Given the description of an element on the screen output the (x, y) to click on. 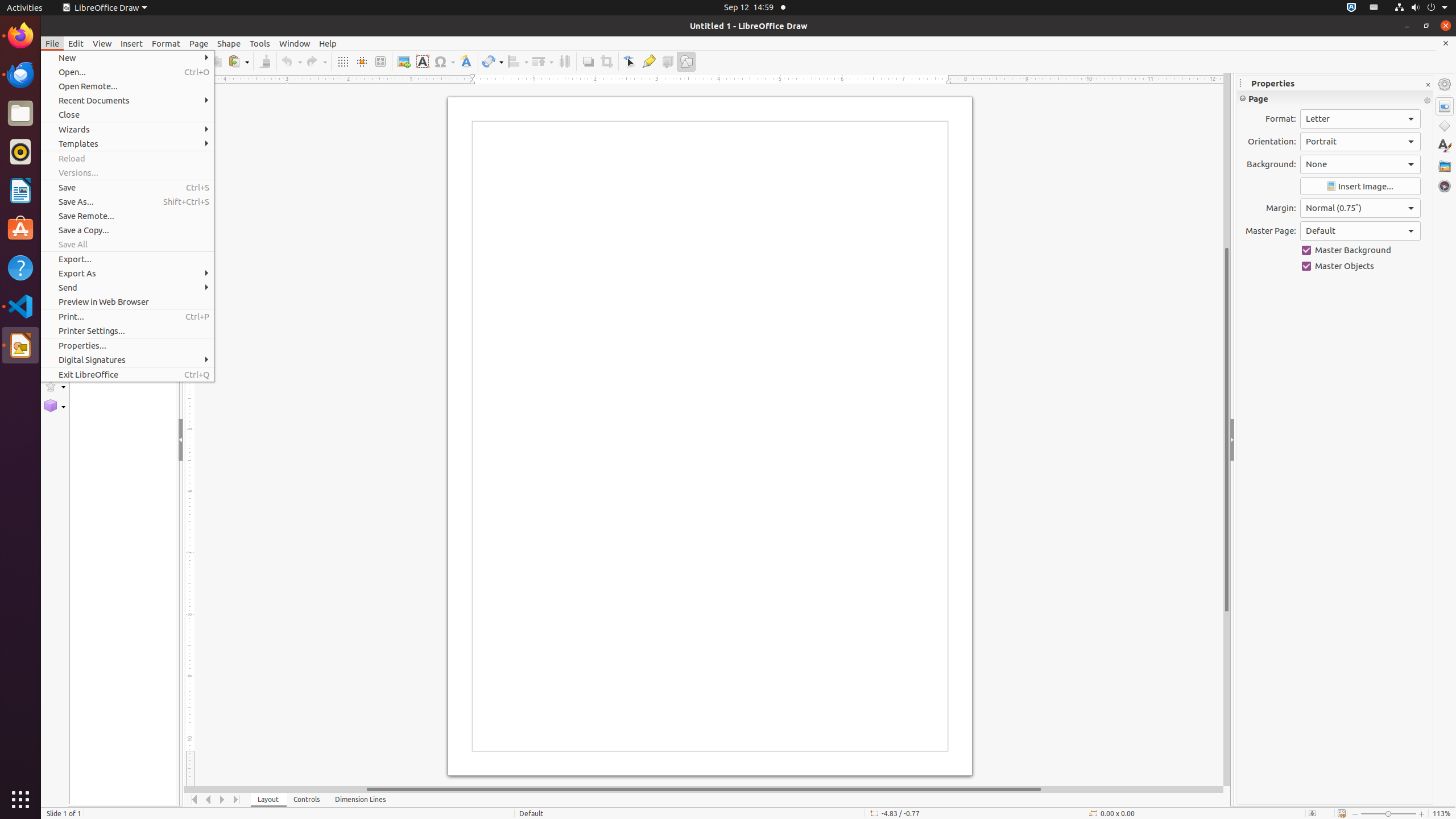
Printer Settings... Element type: menu-item (127, 330)
Shape Element type: menu (228, 43)
